Given the description of an element on the screen output the (x, y) to click on. 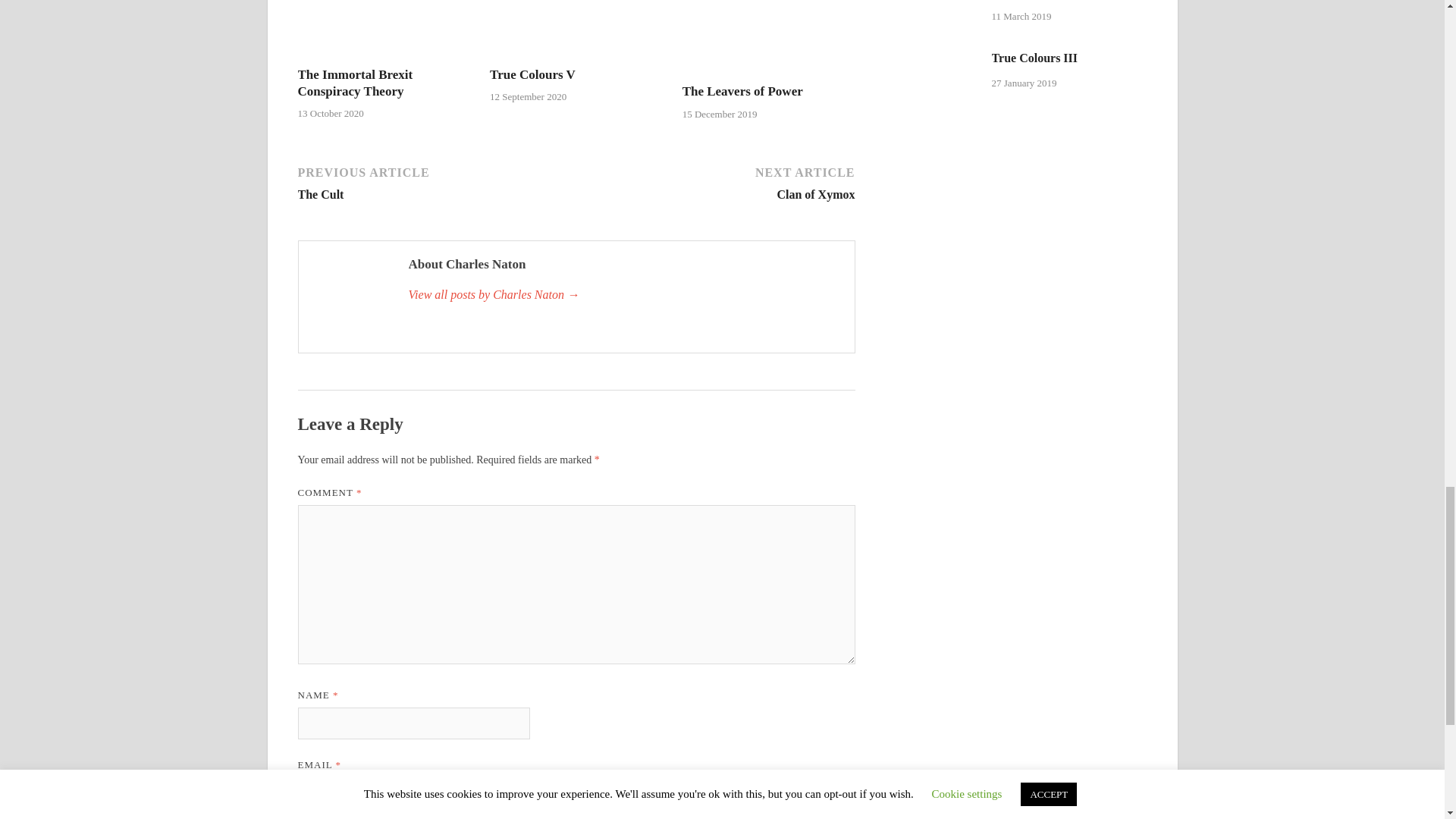
The Leavers of Power (769, 73)
Charles Naton (622, 294)
True Colours V (532, 74)
The Immortal Brexit Conspiracy Theory (383, 56)
The Immortal Brexit Conspiracy Theory (354, 82)
True Colours V (575, 56)
The Immortal Brexit Conspiracy Theory (354, 82)
The Leavers of Power (742, 91)
